Given the description of an element on the screen output the (x, y) to click on. 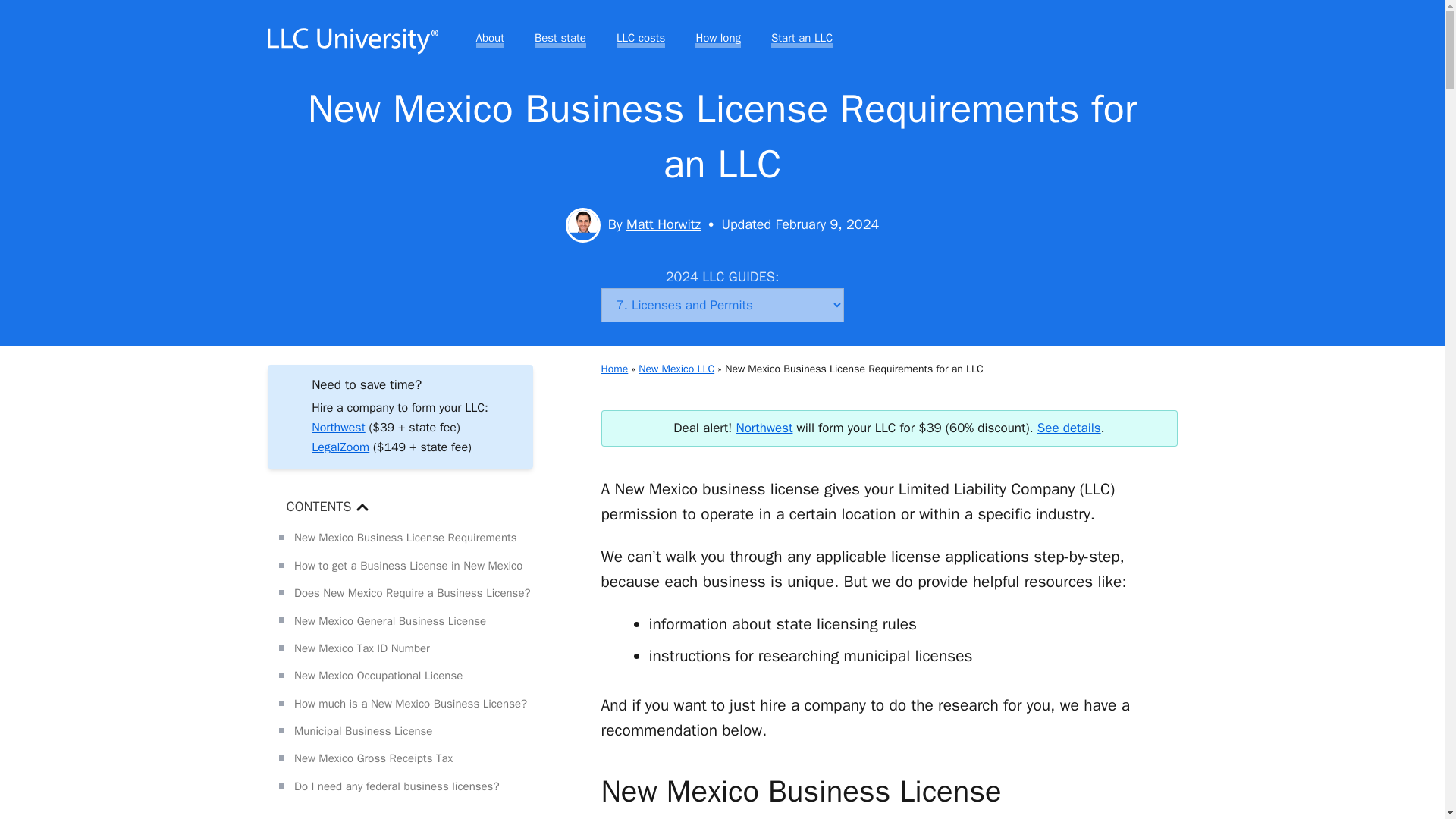
New Mexico General Business License (390, 621)
See details (1068, 427)
How long (718, 37)
LegalZoom (340, 447)
New Mexico Occupational License (378, 675)
How much is a New Mexico Business License? (410, 703)
How to get a Business License in New Mexico (408, 565)
Best state (560, 37)
Northwest (338, 427)
LLC costs (640, 37)
New Mexico LLC (676, 368)
Matt Horwitz (663, 224)
Home (613, 368)
Does New Mexico Require a Business License? (412, 593)
New Mexico Tax ID Number (361, 648)
